Given the description of an element on the screen output the (x, y) to click on. 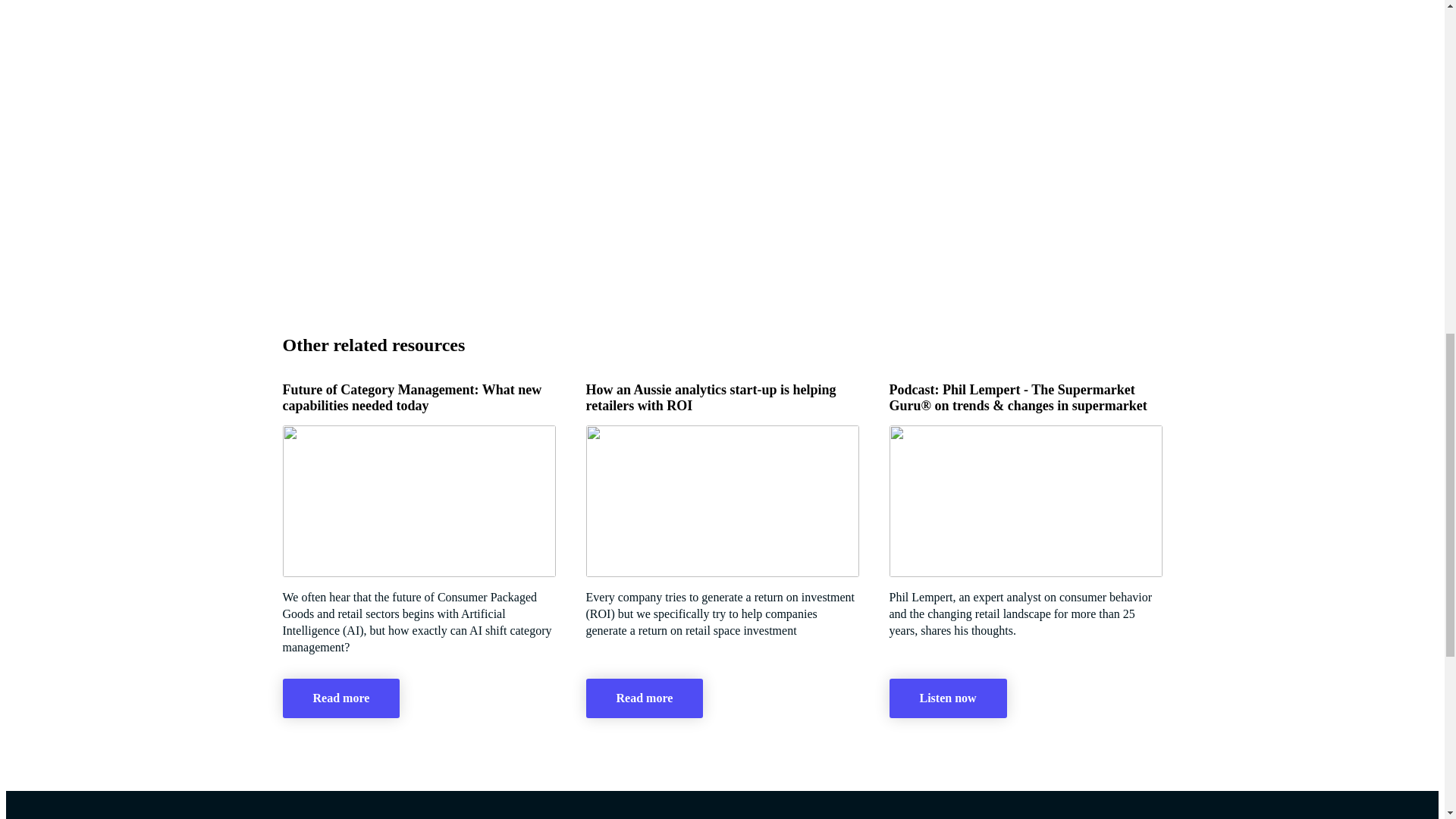
Read more (644, 697)
Listen now (947, 697)
Read more (340, 697)
